Given the description of an element on the screen output the (x, y) to click on. 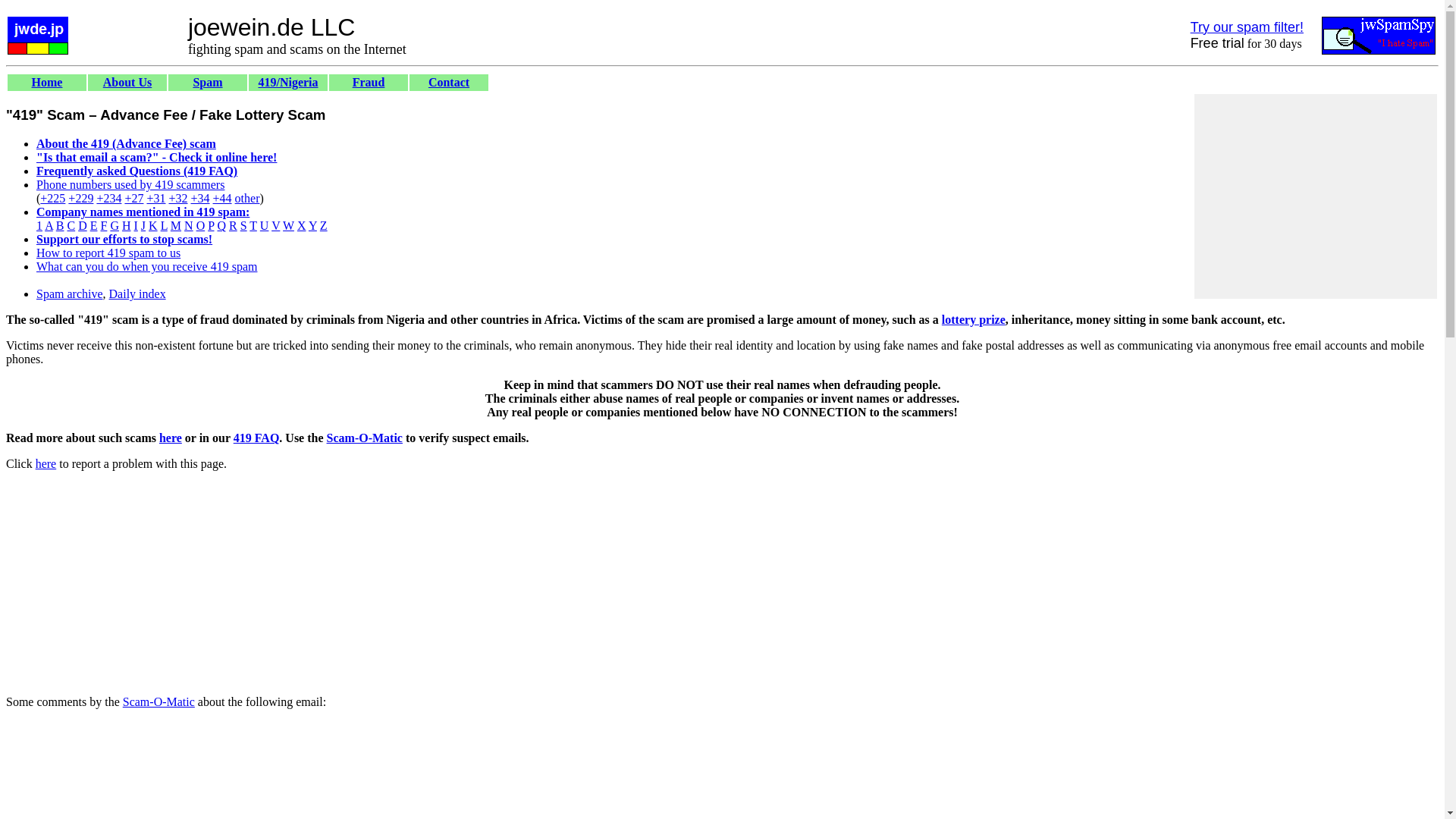
Try our spam filter! (1247, 27)
Home (47, 82)
Company names mentioned in 419 spam: (142, 211)
Advertisement (281, 622)
About Us (127, 82)
Advertisement (721, 770)
Fraud (368, 82)
Phone numbers used by 419 scammers (130, 184)
Contact (448, 82)
"Is that email a scam?" - Check it online here! (156, 156)
